Given the description of an element on the screen output the (x, y) to click on. 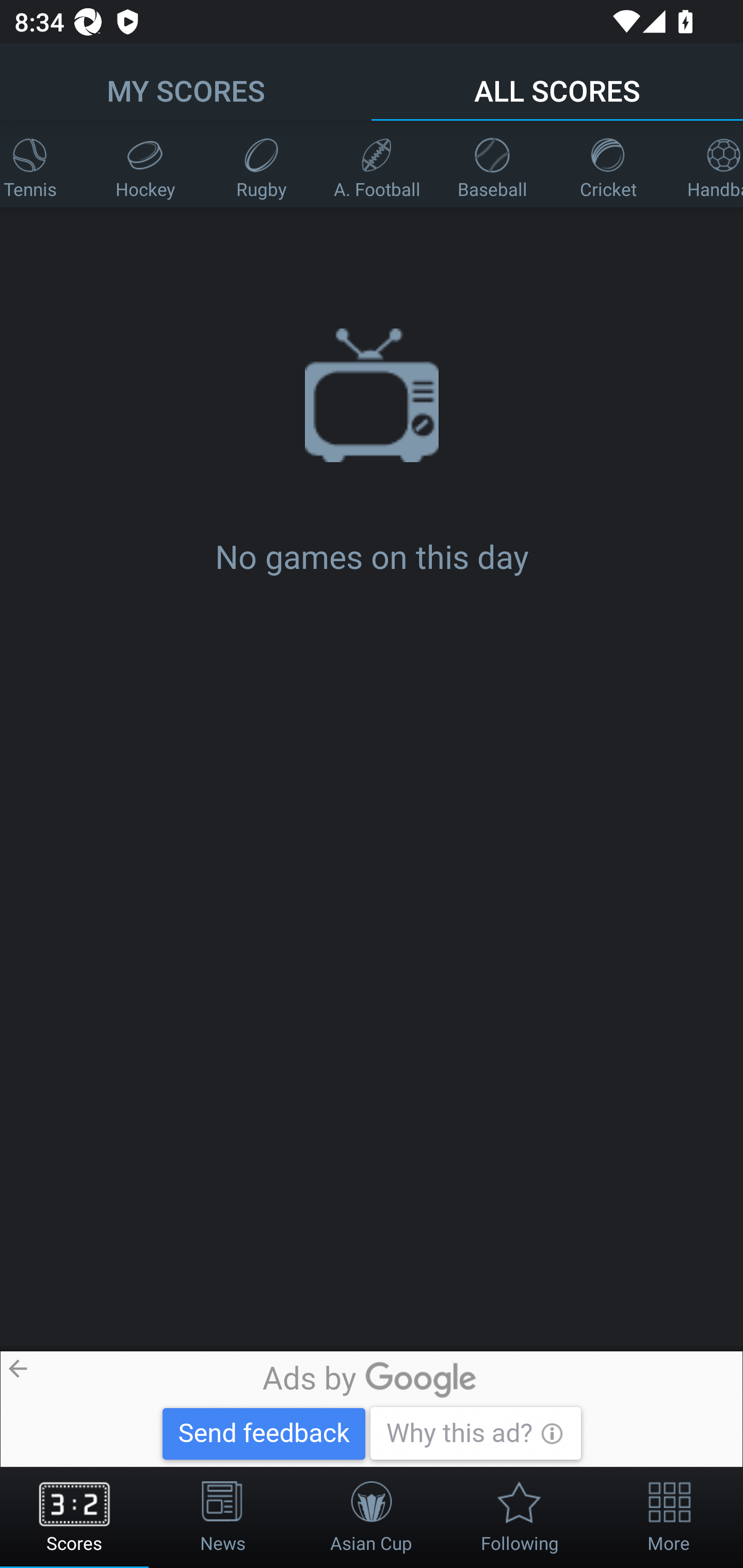
MY SCORES (185, 81)
ALL SCORES (557, 81)
Tennis (43, 163)
Hockey (145, 163)
Rugby (260, 163)
A. Football (376, 163)
Baseball (491, 163)
Cricket (607, 163)
Handball (704, 163)
超瘋狂預購 48小時 Pitanium MOKO 超瘋狂預購 48小時 Pitanium MOKO (379, 1409)
News (222, 1517)
Asian Cup (371, 1517)
Following (519, 1517)
More (668, 1517)
